Given the description of an element on the screen output the (x, y) to click on. 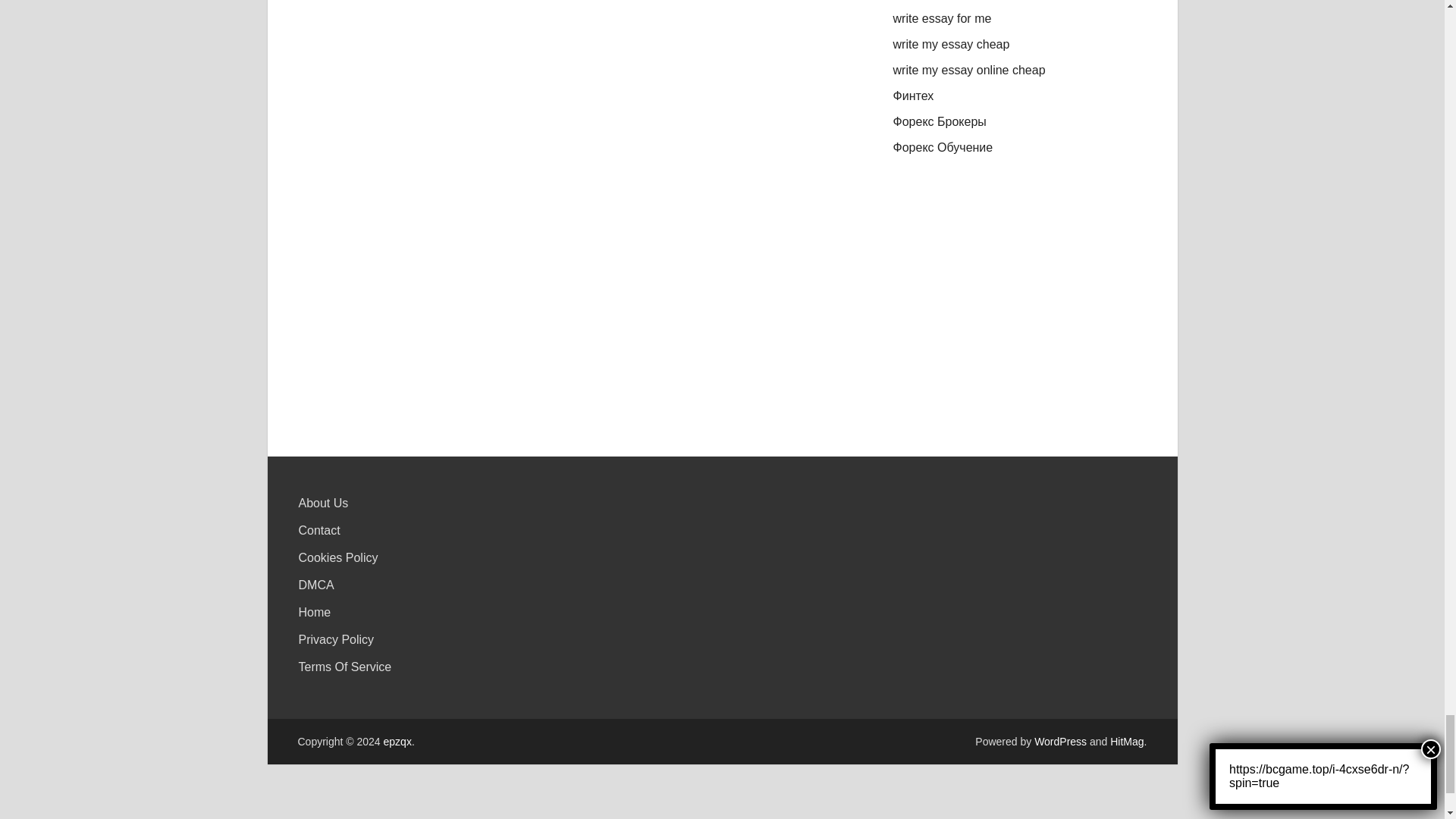
WordPress (1059, 741)
HitMag WordPress Theme (1125, 741)
epzqx (398, 741)
